Given the description of an element on the screen output the (x, y) to click on. 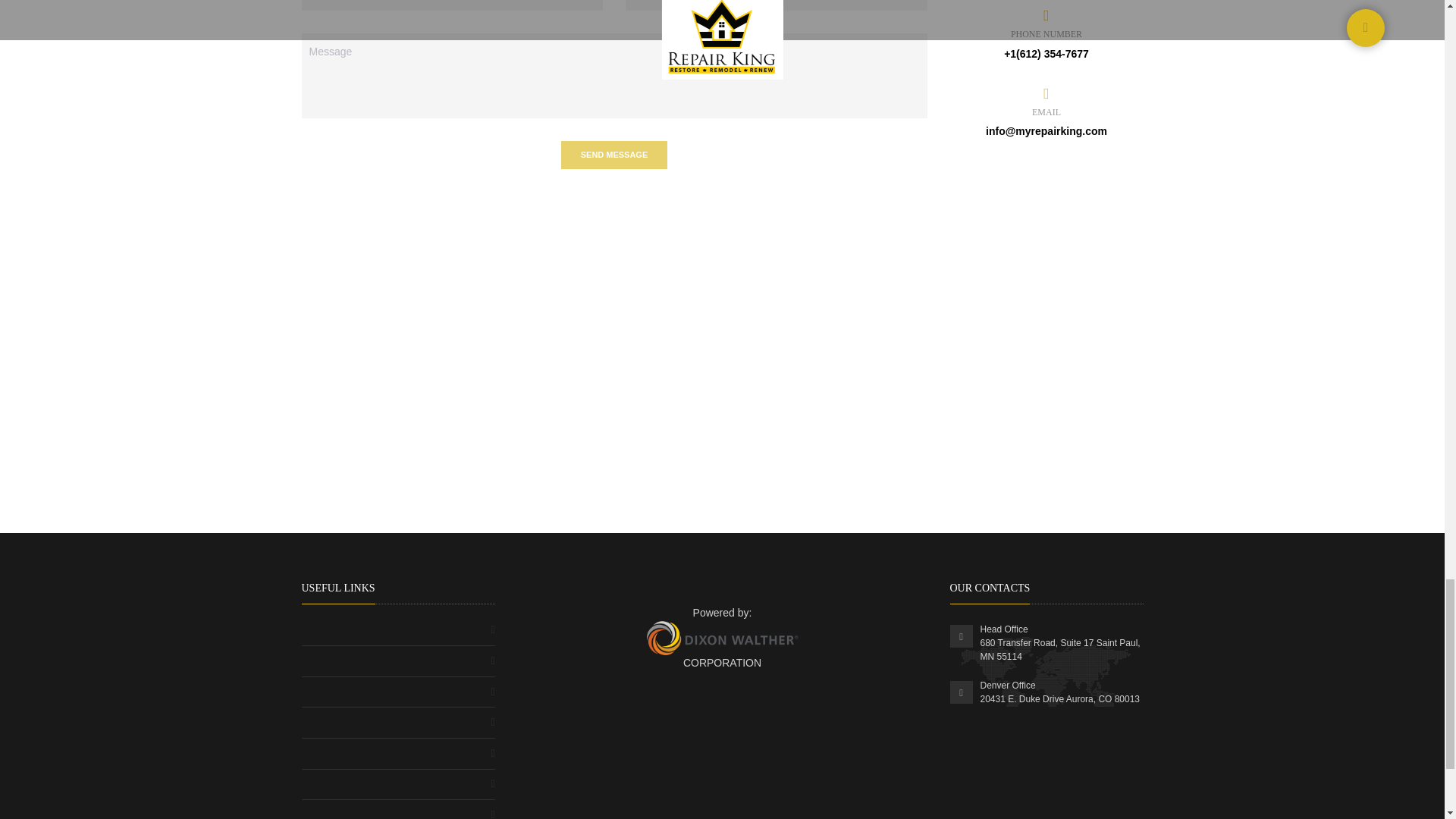
SEND MESSAGE (613, 154)
